Given the description of an element on the screen output the (x, y) to click on. 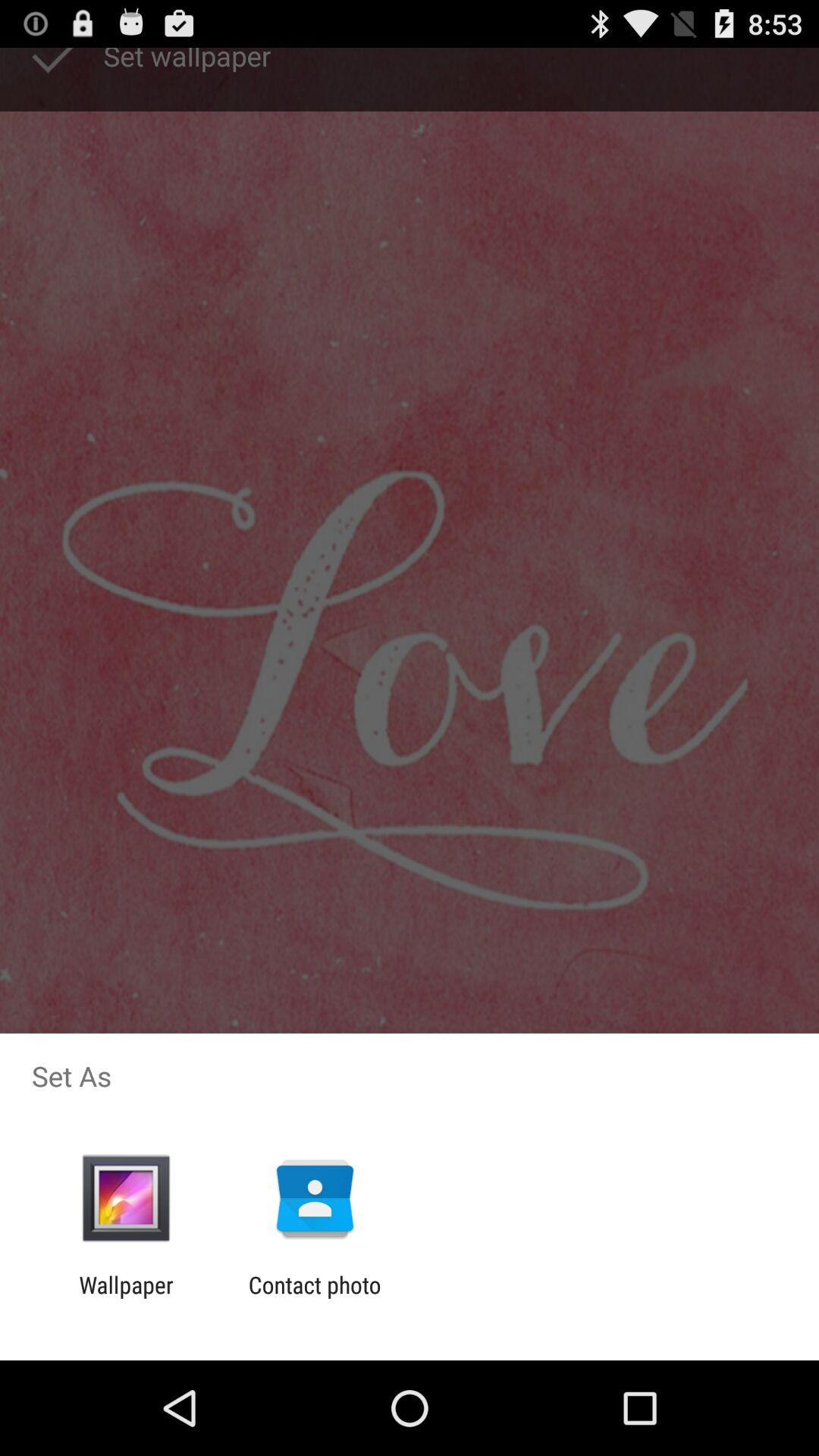
choose the app to the left of the contact photo icon (126, 1298)
